Given the description of an element on the screen output the (x, y) to click on. 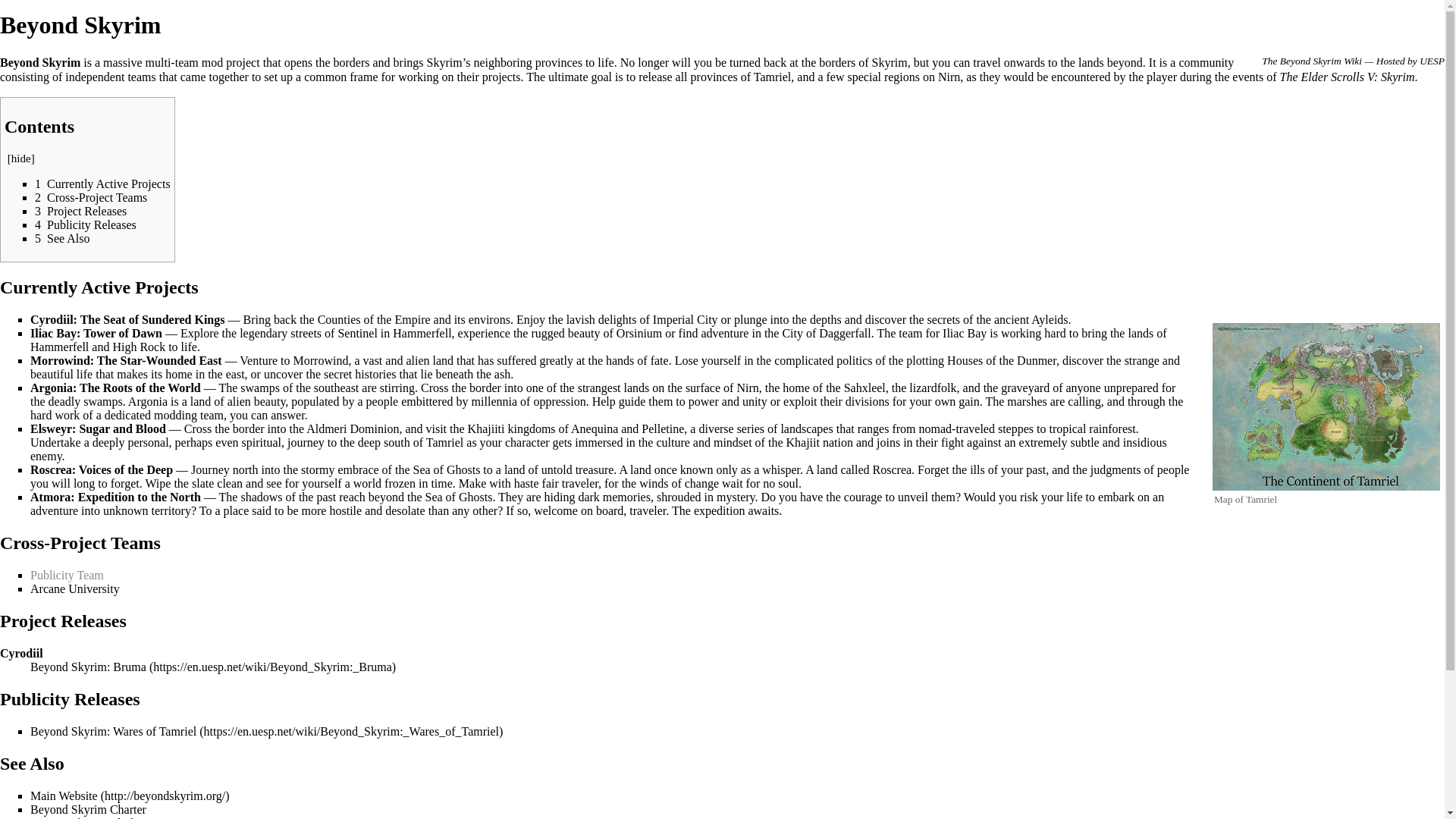
Iliac Bay: Tower of Dawn (95, 332)
Morrowind:The Star-Wounded East (126, 359)
hide (20, 158)
1 Currently Active Projects (102, 183)
Main Website (130, 795)
Argonia:The Roots of the World (115, 387)
Iliac Bay:Tower of Dawn (95, 332)
2 Cross-Project Teams (90, 196)
Beyond Skyrim Charter (88, 809)
Argonia: The Roots of the World (115, 387)
Publicity Team (66, 574)
Atmora: Expedition to the North (115, 496)
Roscrea: Voices of the Deep (101, 469)
Beyond Skyrim: Wares of Tamriel (266, 730)
Roscrea:Voices of the Deep (101, 469)
